Given the description of an element on the screen output the (x, y) to click on. 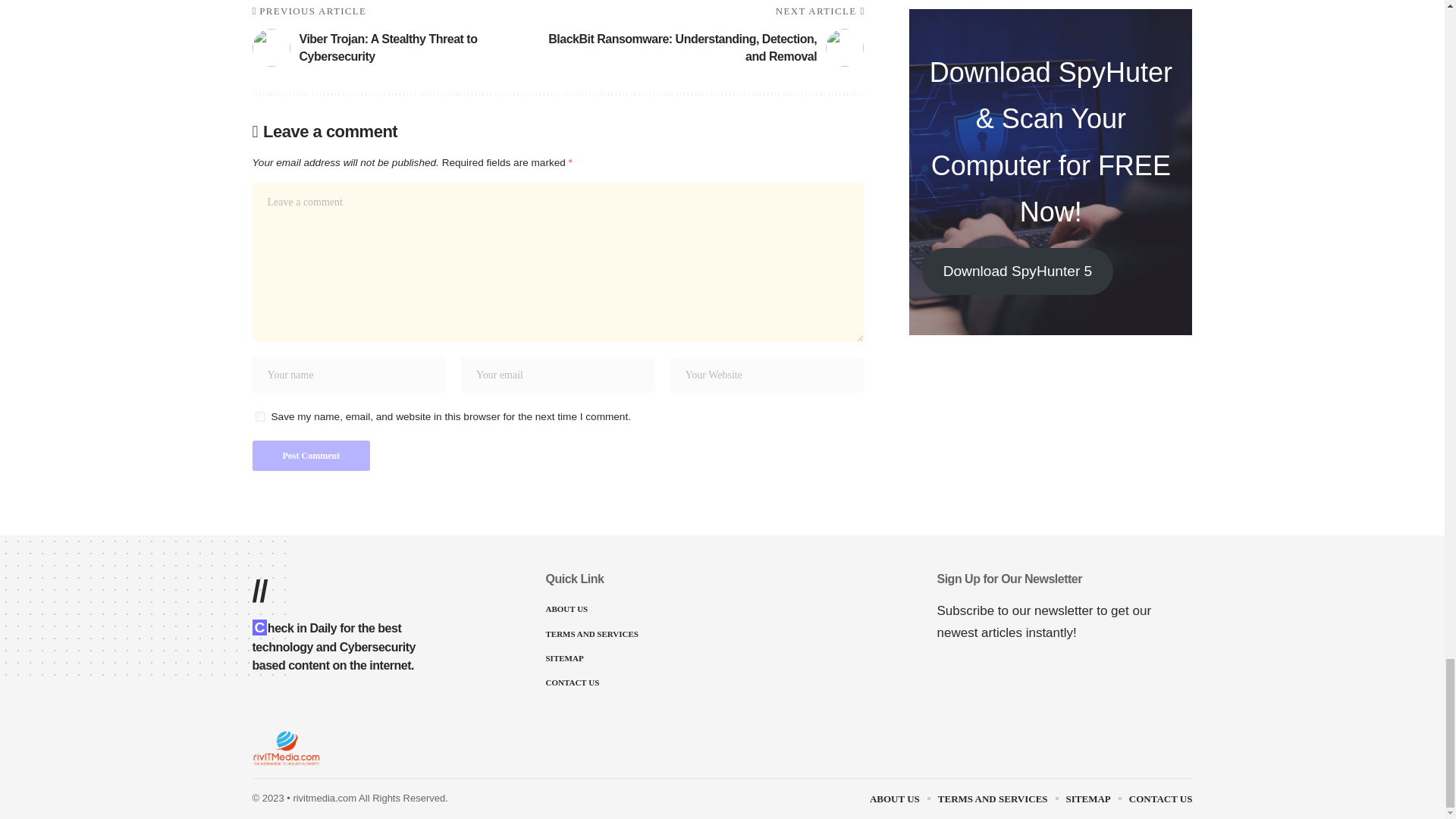
yes (259, 416)
Post Comment (310, 455)
www.rivitmedia.com (285, 747)
